Given the description of an element on the screen output the (x, y) to click on. 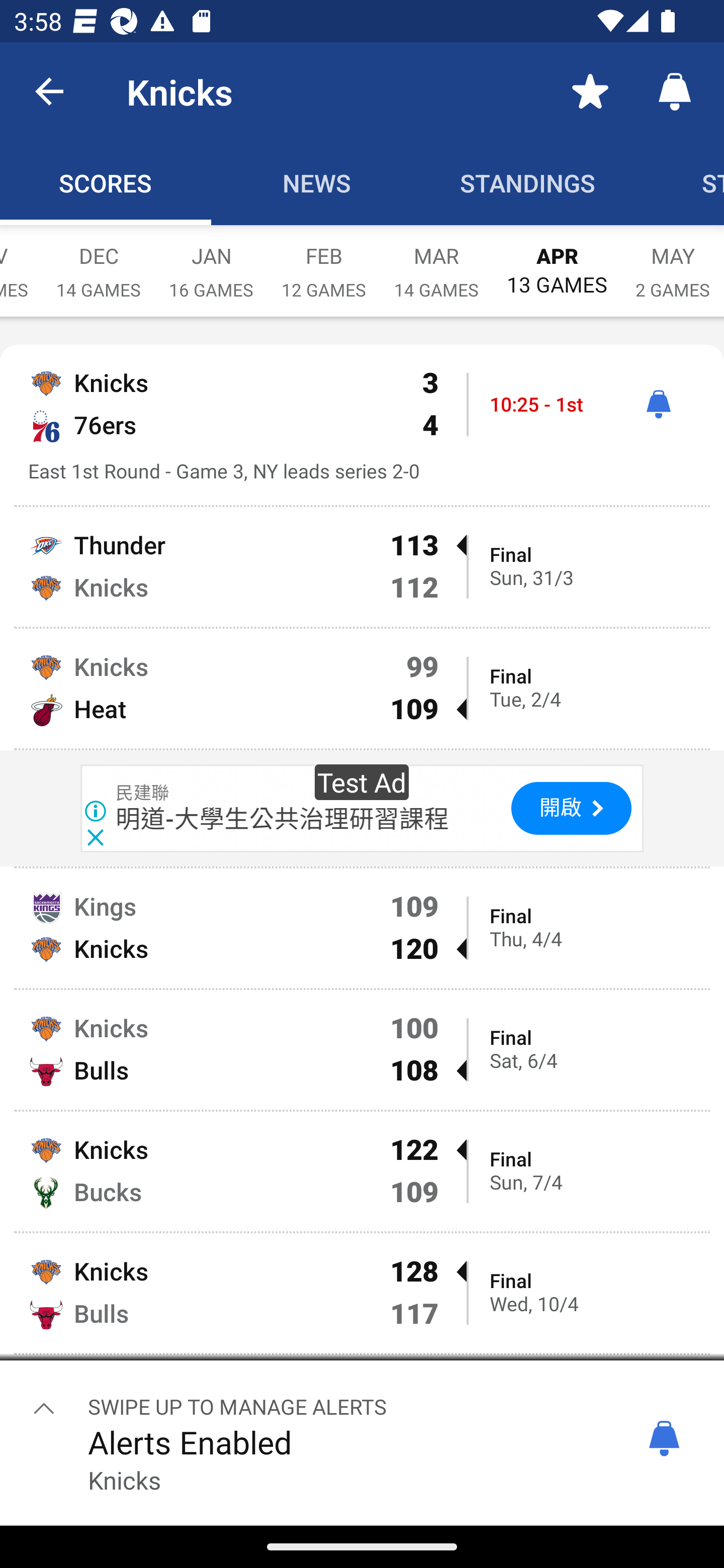
back.button (49, 90)
Favorite toggle (590, 90)
Alerts (674, 90)
News NEWS (316, 183)
Standings STANDINGS (527, 183)
DEC 14 GAMES (97, 262)
JAN 16 GAMES (210, 262)
FEB 12 GAMES (323, 262)
MAR 14 GAMES (436, 262)
APR 13 GAMES (557, 261)
MAY 2 GAMES (672, 262)
ì (658, 404)
Thunder 113  Knicks 112 Final Sun, 31/3 (362, 566)
Knicks 99 Heat 109  Final Tue, 2/4 (362, 687)
民建聯 (142, 793)
開啟 (570, 808)
明道-大學生公共治理研習課程 (282, 818)
Kings 109 Knicks 120  Final Thu, 4/4 (362, 927)
Knicks 100 Bulls 108  Final Sat, 6/4 (362, 1049)
Knicks 122  Bucks 109 Final Sun, 7/4 (362, 1170)
Knicks 128  Bulls 117 Final Wed, 10/4 (362, 1293)
Knicks 118  Celtics 109 Final Thu, 11/4 (362, 1413)
 (44, 1407)
